Given the description of an element on the screen output the (x, y) to click on. 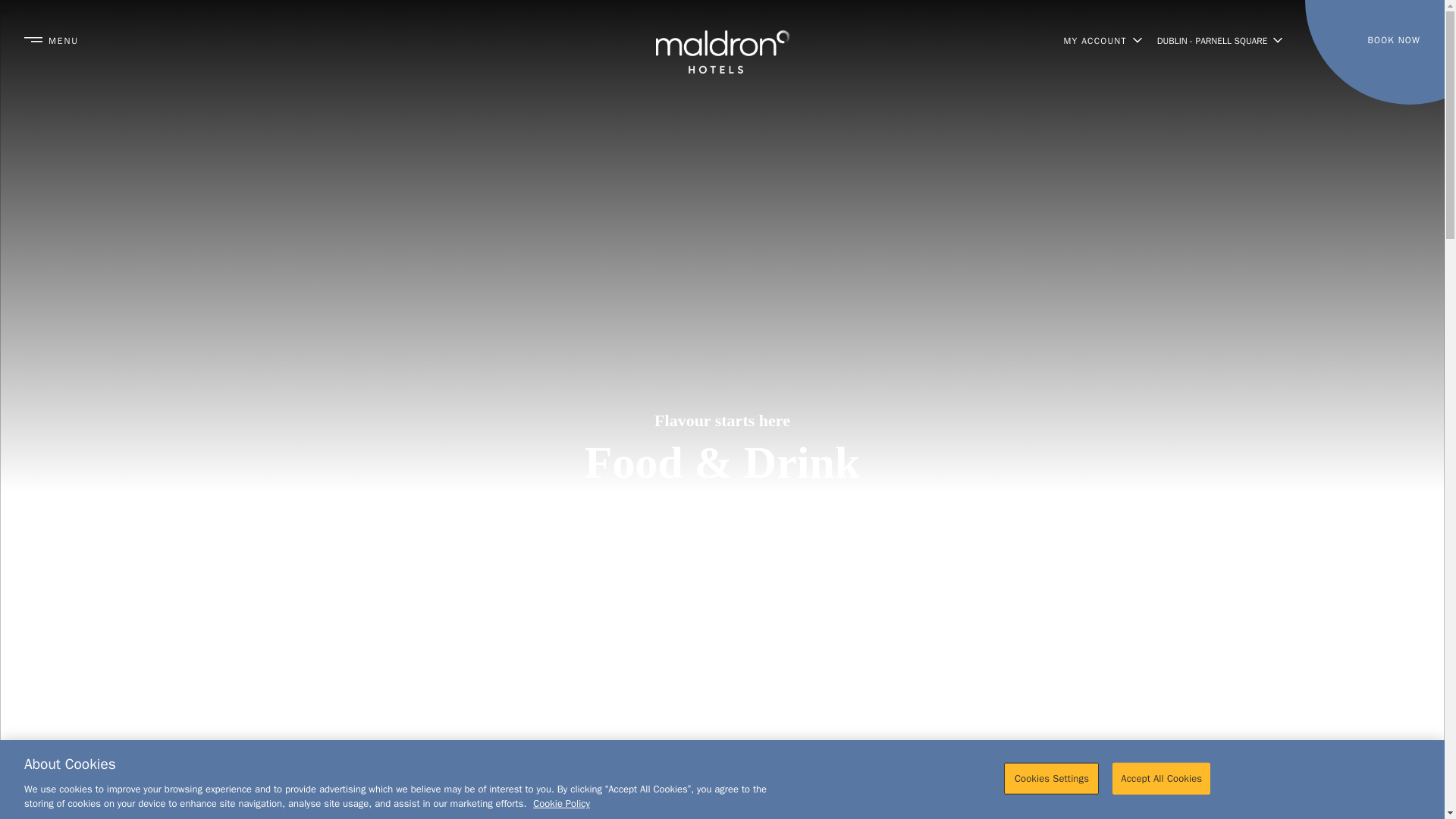
DUBLIN - PARNELL SQUARE (1219, 39)
MY ACCOUNT (1101, 39)
Home (722, 39)
MENU (51, 40)
